Given the description of an element on the screen output the (x, y) to click on. 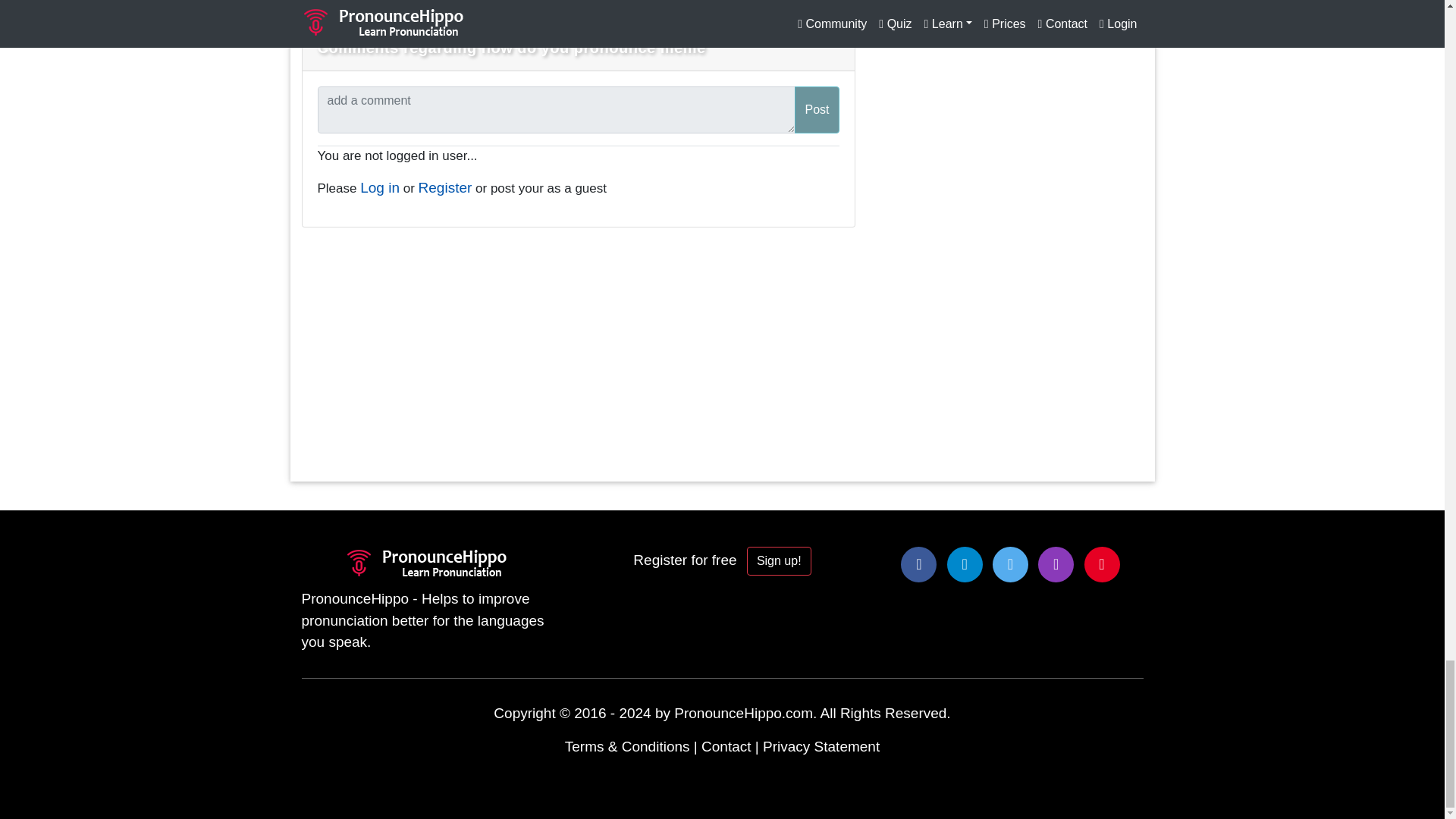
Log in (378, 187)
Register (445, 187)
Post (816, 109)
